Given the description of an element on the screen output the (x, y) to click on. 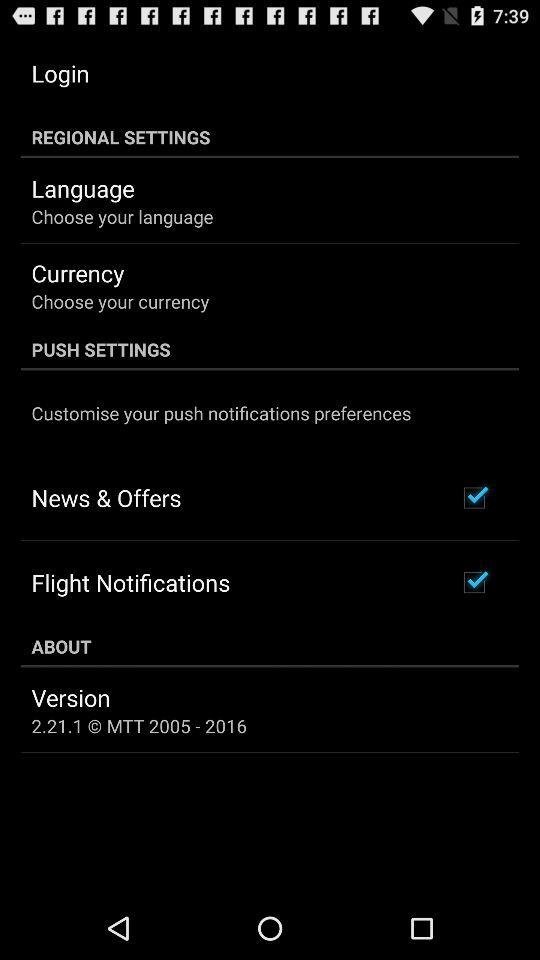
select news & offers (106, 497)
